Given the description of an element on the screen output the (x, y) to click on. 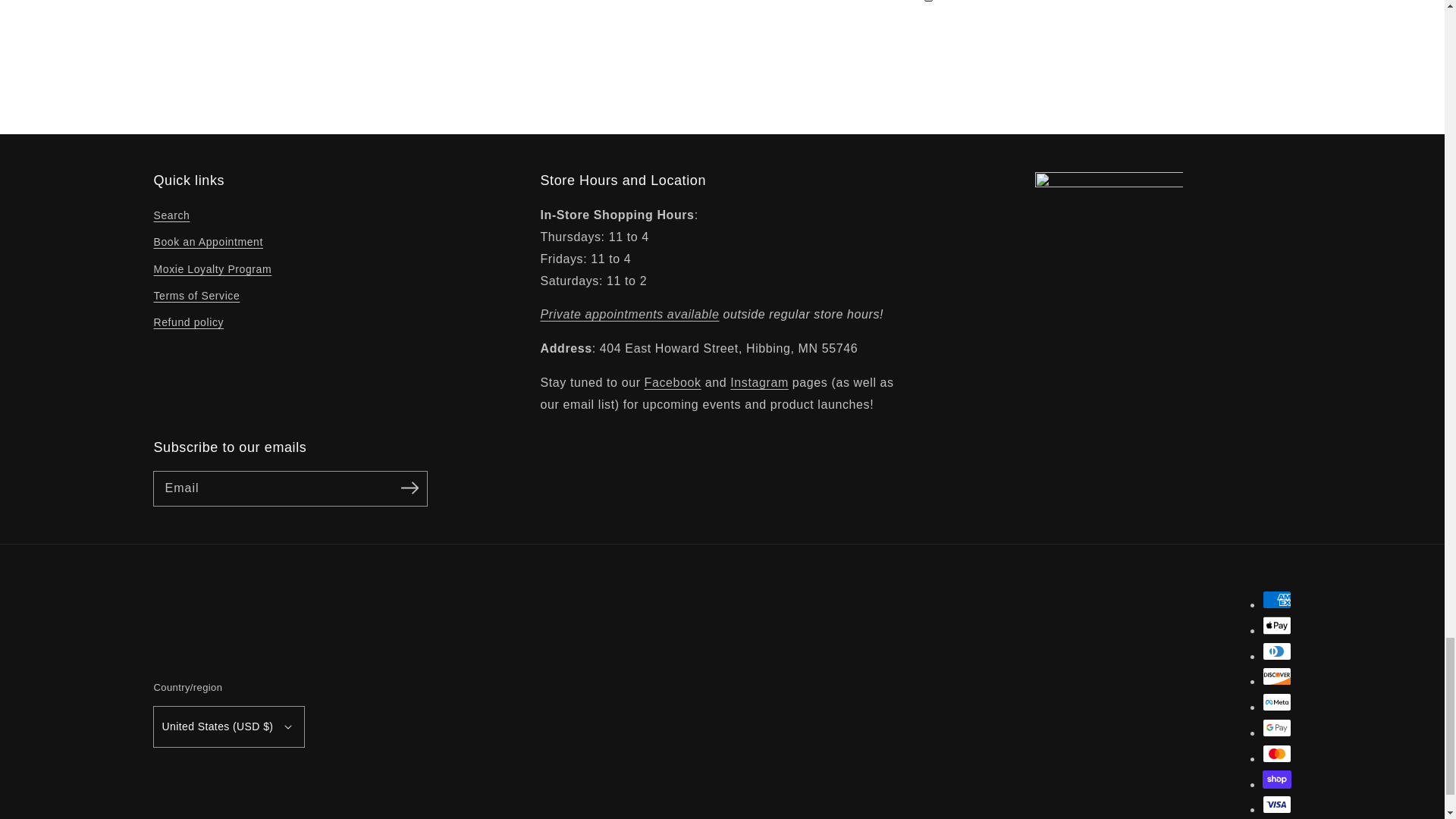
Moxie Instagram Page (759, 382)
Visa (1276, 804)
American Express (1276, 599)
Google Pay (1276, 728)
Shop Pay (1276, 779)
Discover (1276, 676)
Moxie Facebook Page (673, 382)
Mastercard (1276, 753)
Diners Club (1276, 651)
Apple Pay (1276, 625)
